Given the description of an element on the screen output the (x, y) to click on. 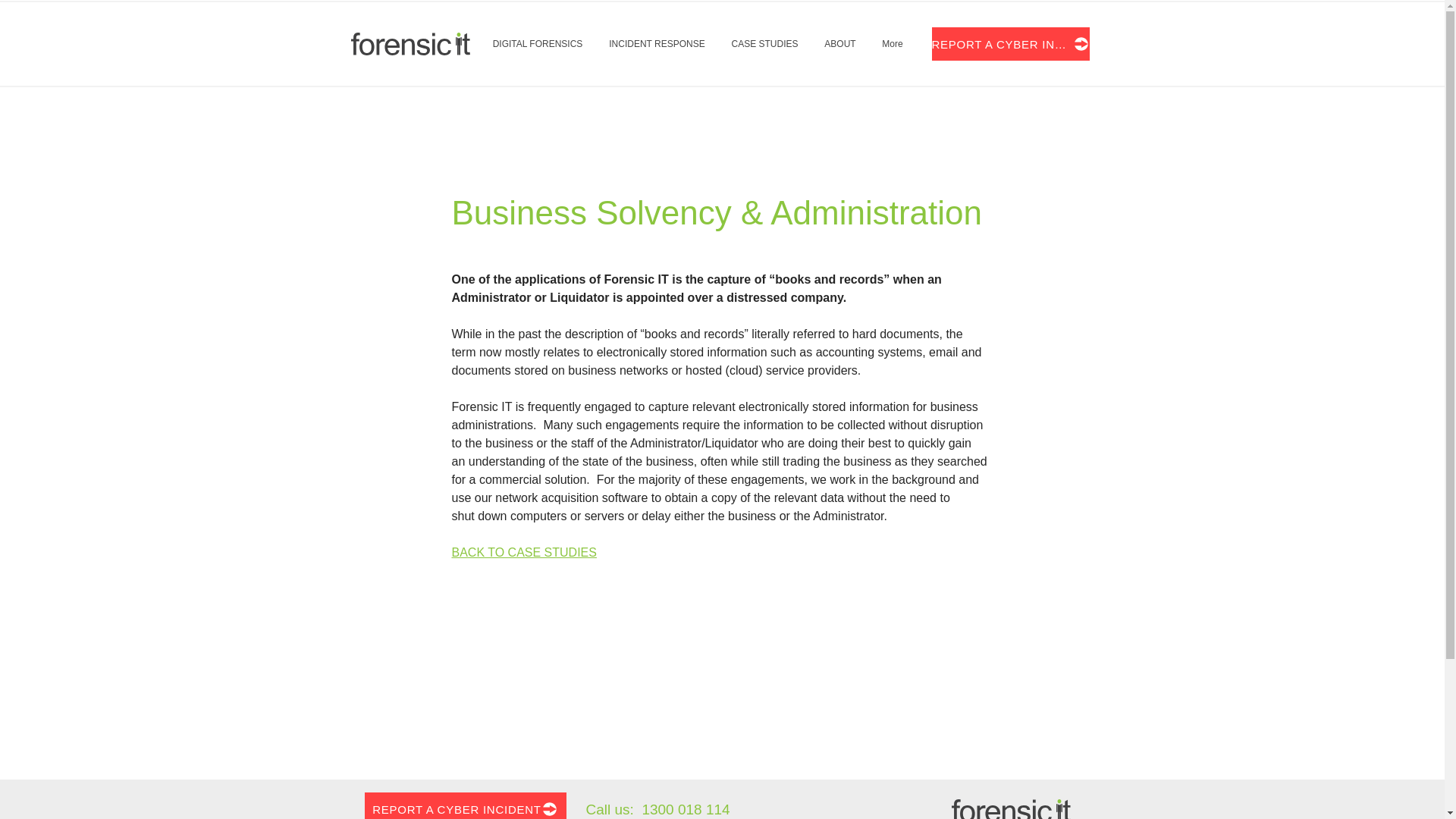
INCIDENT RESPONSE (656, 43)
ABOUT (839, 43)
REPORT A CYBER INCIDENT (1010, 43)
DIGITAL FORENSICS (537, 43)
CASE STUDIES (763, 43)
BACK TO CASE STUDIES (523, 552)
REPORT A CYBER INCIDENT (465, 805)
